Given the description of an element on the screen output the (x, y) to click on. 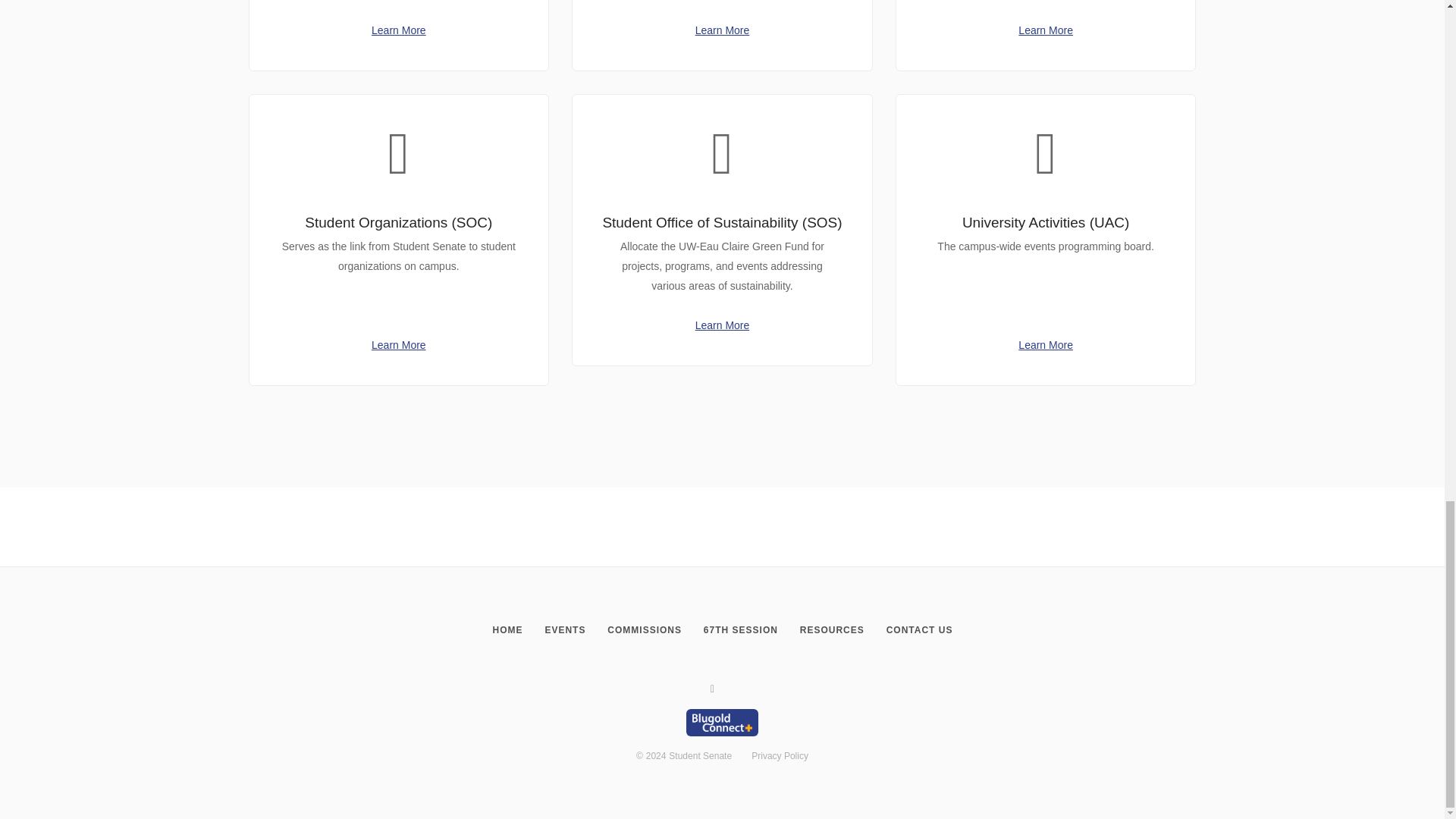
Learn More (1045, 345)
Learn More (722, 30)
67TH SESSION (740, 629)
Learn More (722, 325)
CONTACT US (919, 629)
EVENTS (564, 629)
Learn More (398, 30)
RESOURCES (831, 629)
COMMISSIONS (644, 629)
Privacy Policy (779, 756)
Learn More (398, 345)
Learn More (1045, 30)
HOME (507, 629)
